Given the description of an element on the screen output the (x, y) to click on. 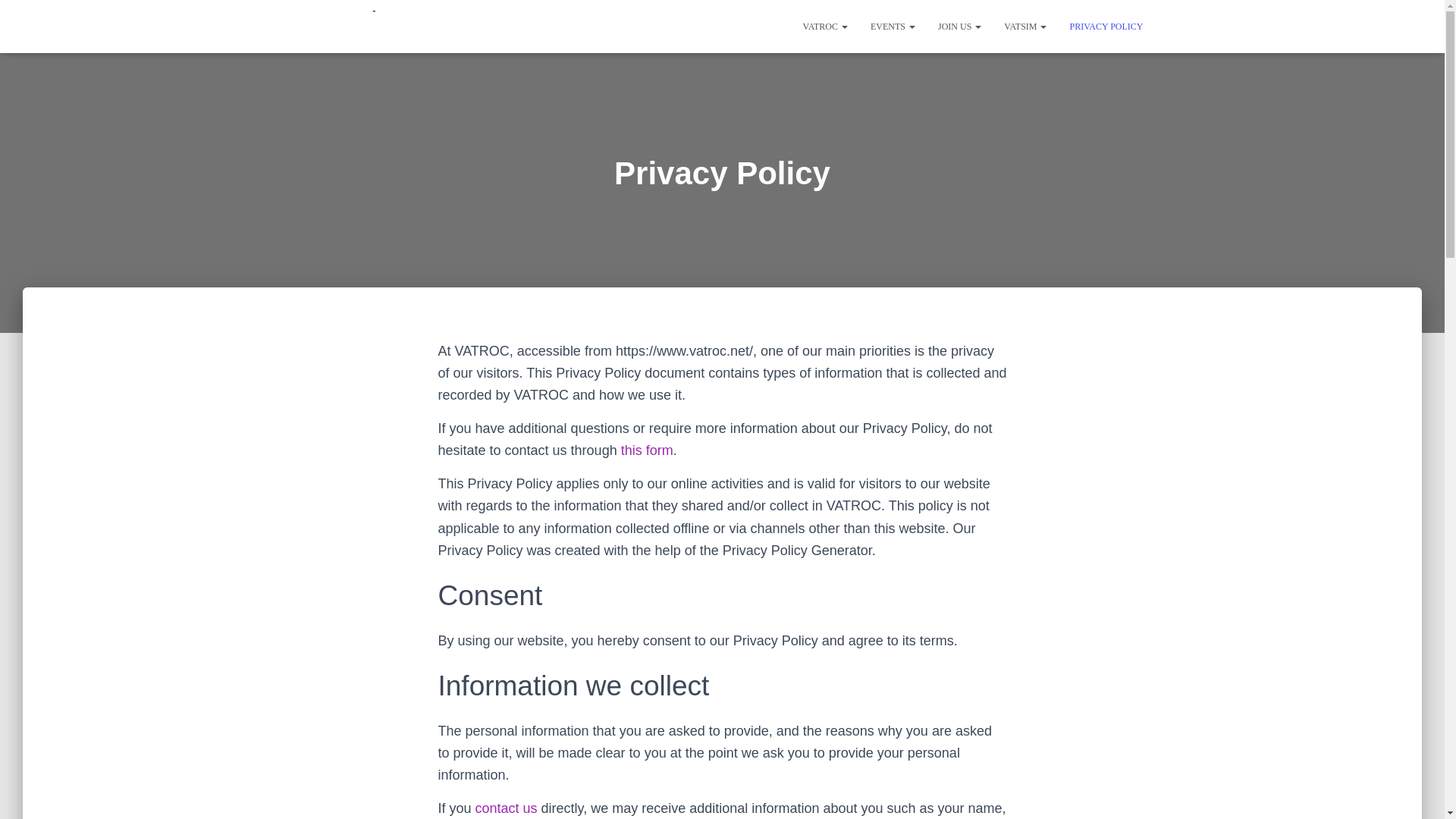
VATSIM (1025, 26)
VATSIM (1025, 26)
EVENTS (892, 26)
VATROC (825, 26)
PRIVACY POLICY (1106, 26)
contact us (506, 807)
VATROC (825, 26)
JOIN US (959, 26)
Join Us (959, 26)
Events (892, 26)
